Given the description of an element on the screen output the (x, y) to click on. 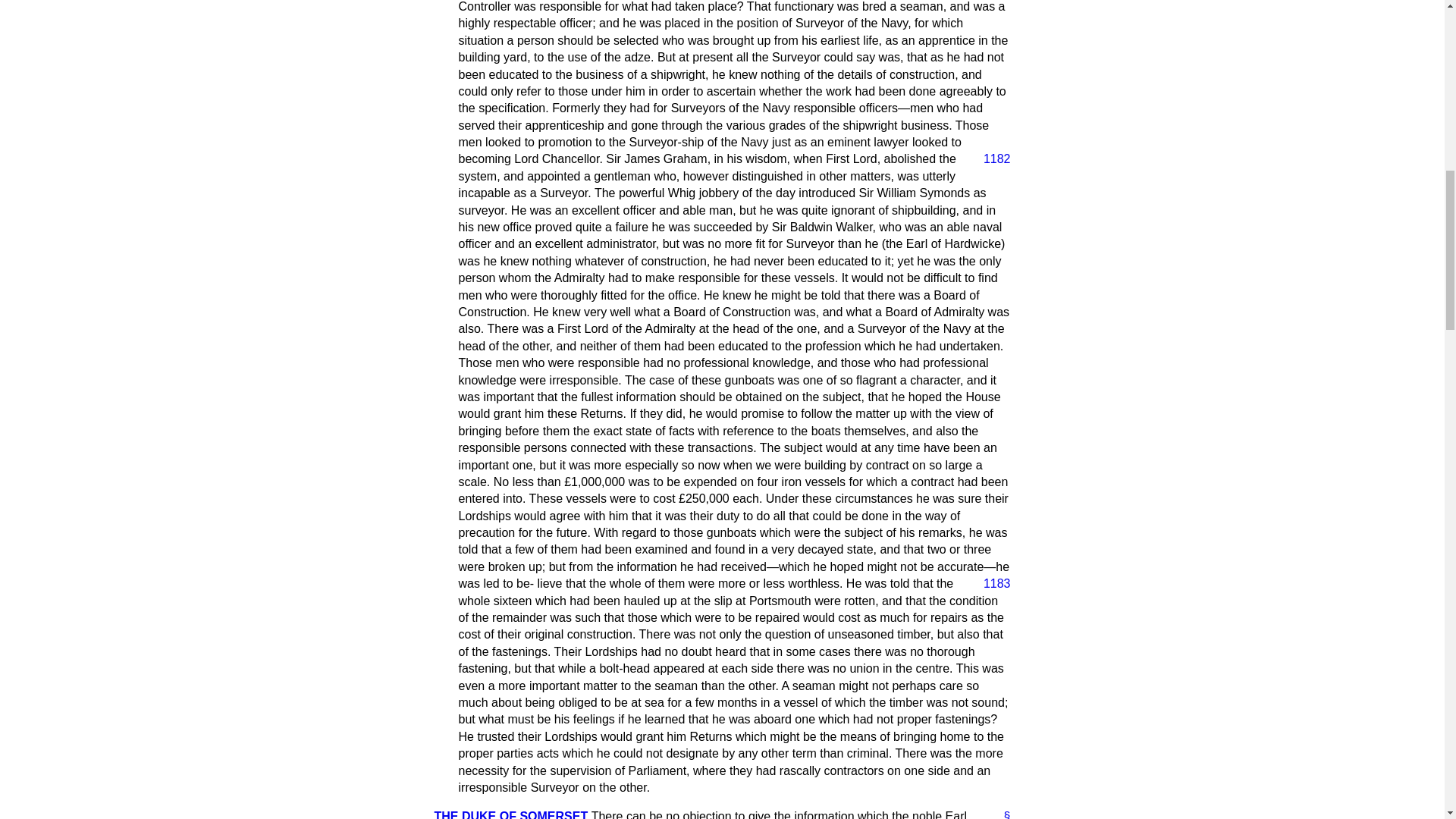
THE DUKE OF SOMERSET (510, 814)
Lord  Seymour (510, 814)
1182 (990, 158)
Link to this speech by Lord  Seymour (1000, 813)
1183 (990, 583)
